Given the description of an element on the screen output the (x, y) to click on. 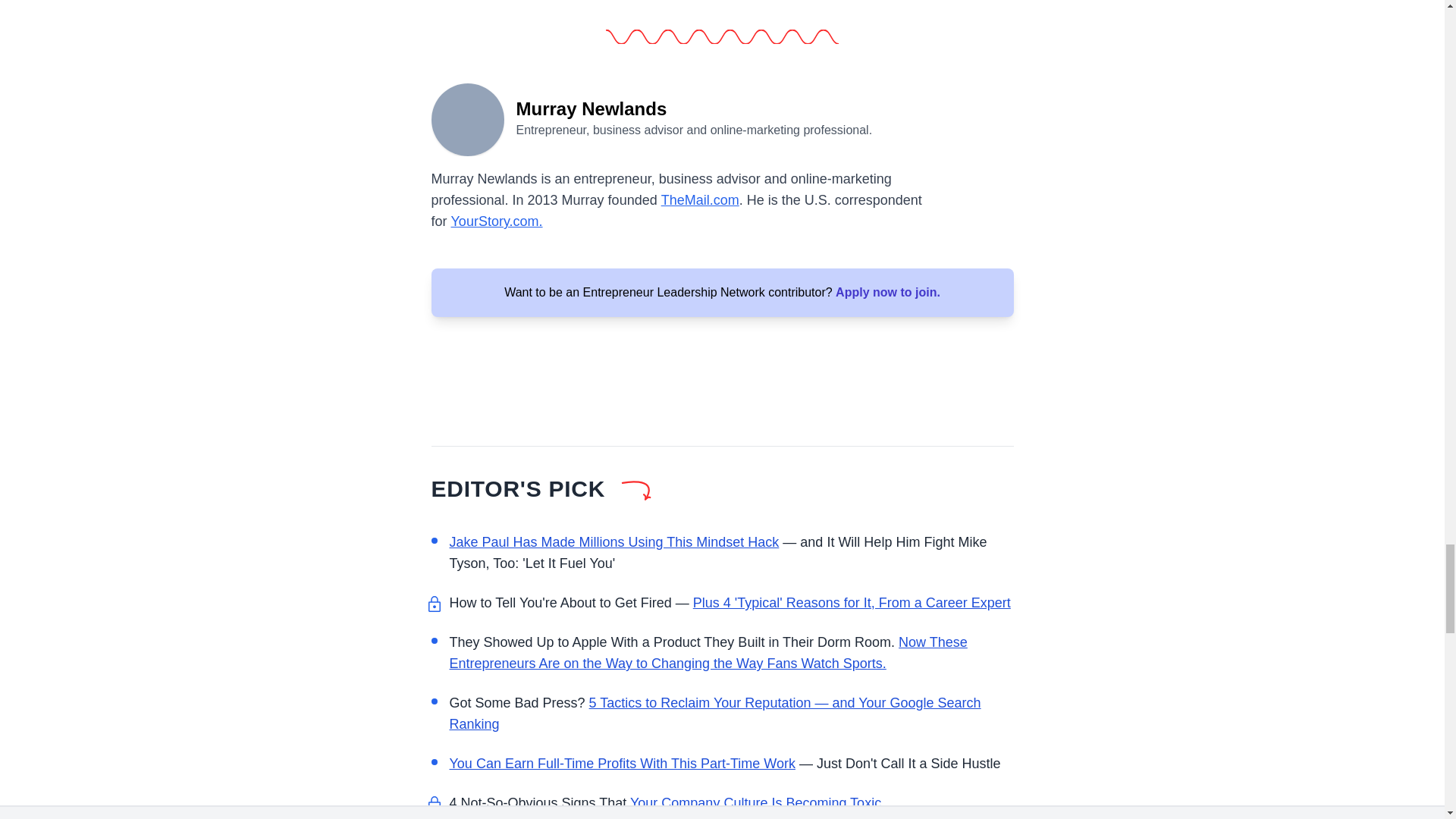
Murray Newlands (466, 118)
